Given the description of an element on the screen output the (x, y) to click on. 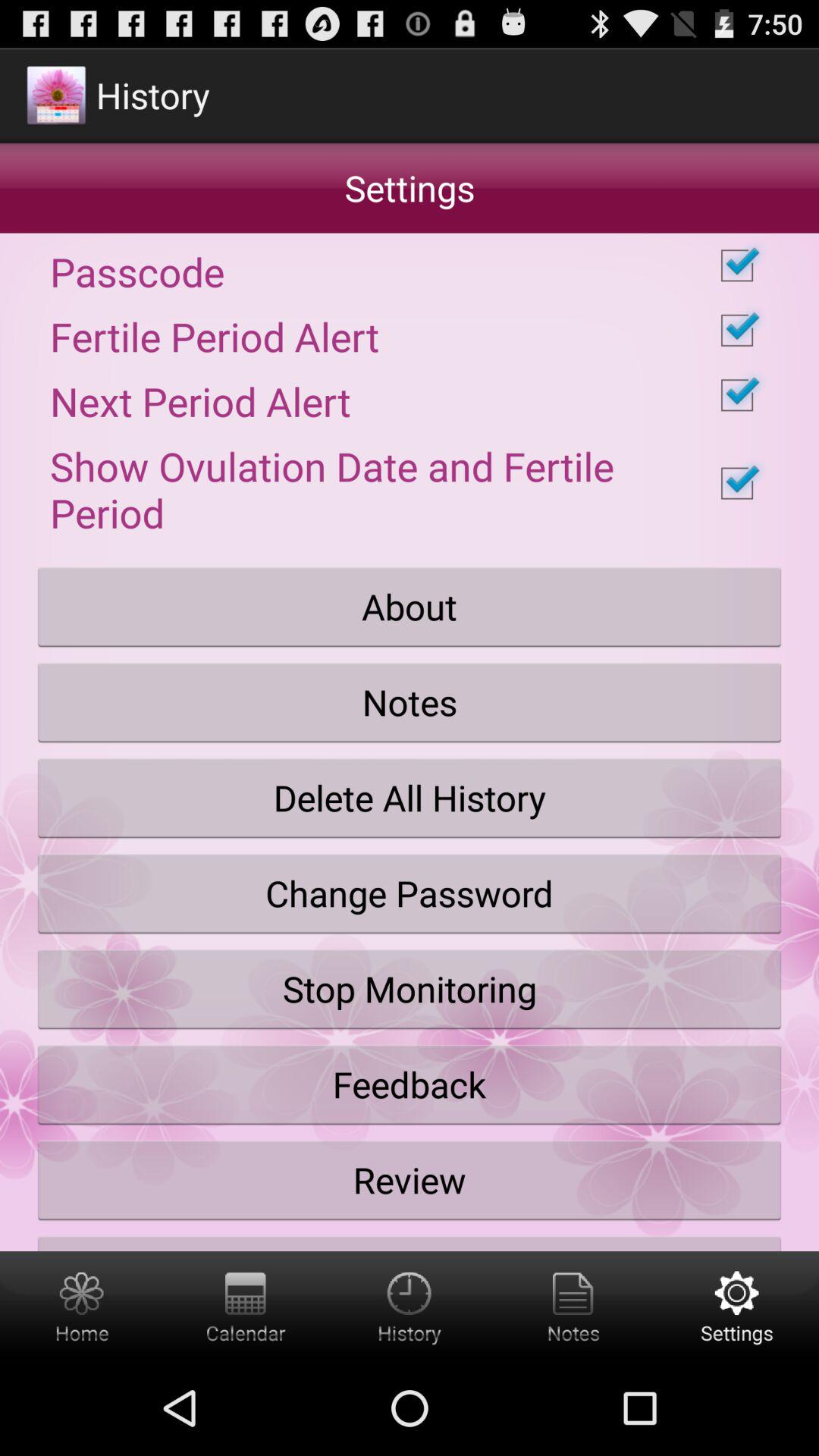
open settings (737, 1305)
